Given the description of an element on the screen output the (x, y) to click on. 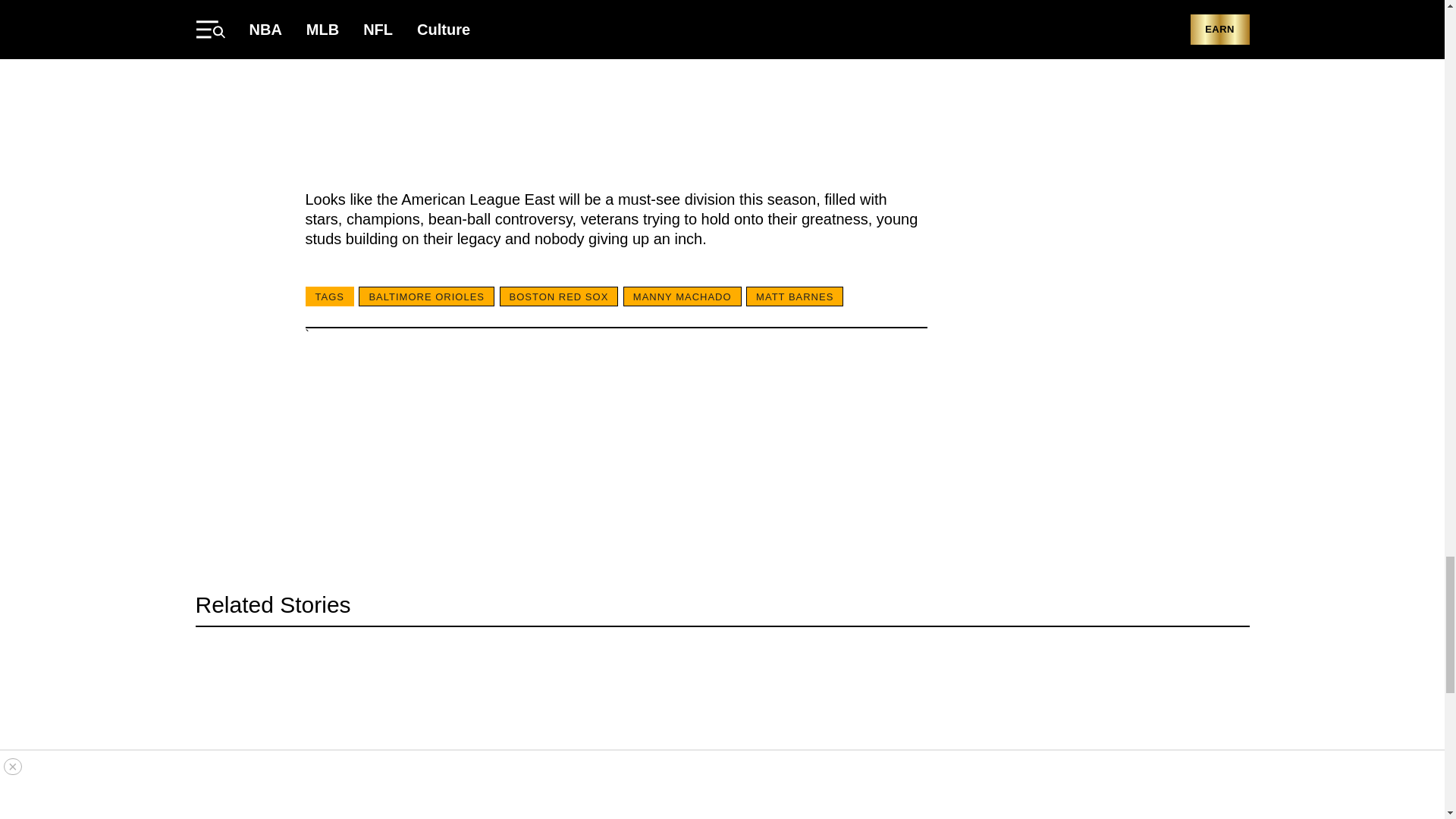
BALTIMORE ORIOLES (426, 296)
TAGS (328, 296)
